Given the description of an element on the screen output the (x, y) to click on. 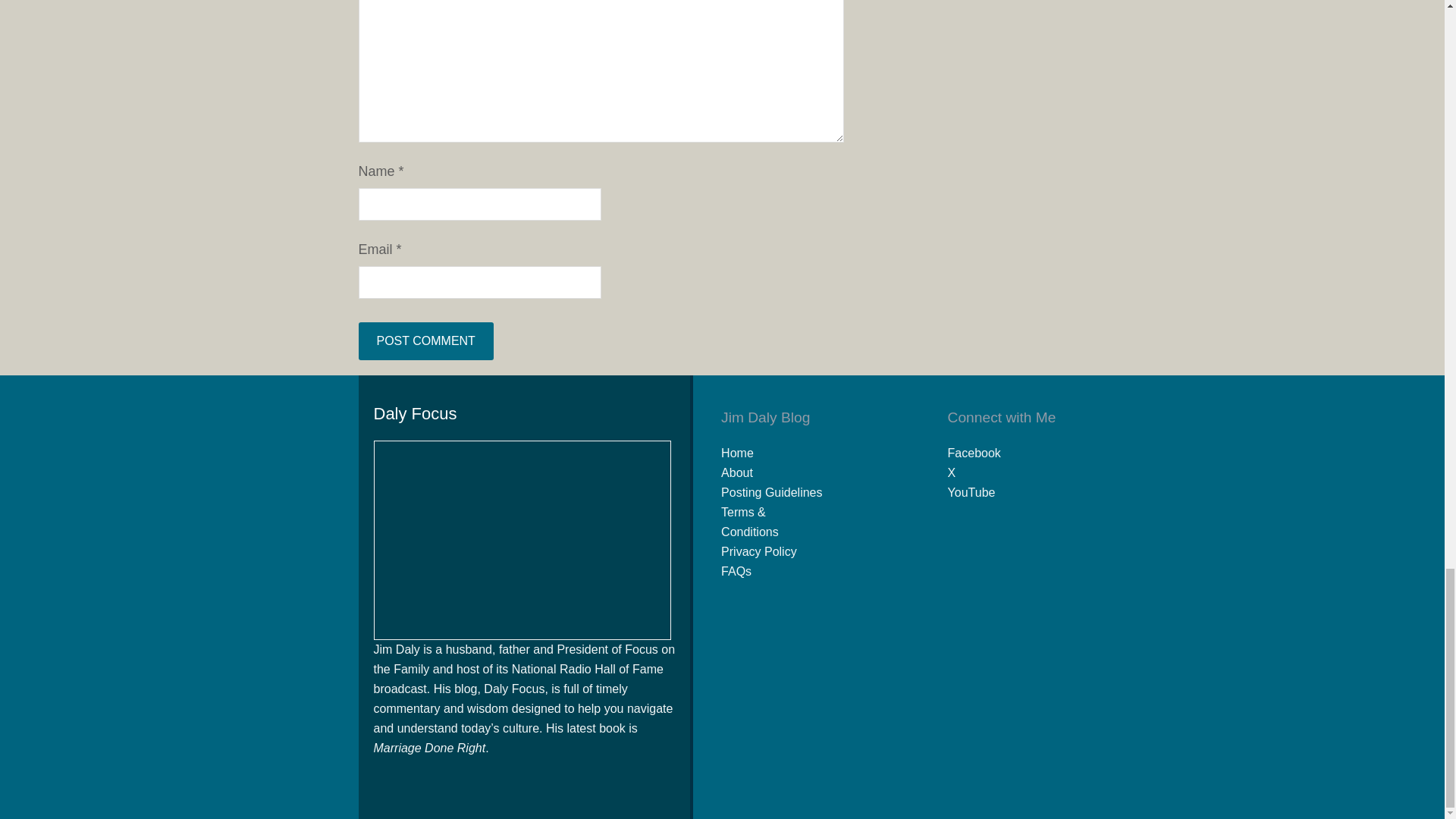
Post Comment (425, 341)
Post Comment (425, 341)
